Given the description of an element on the screen output the (x, y) to click on. 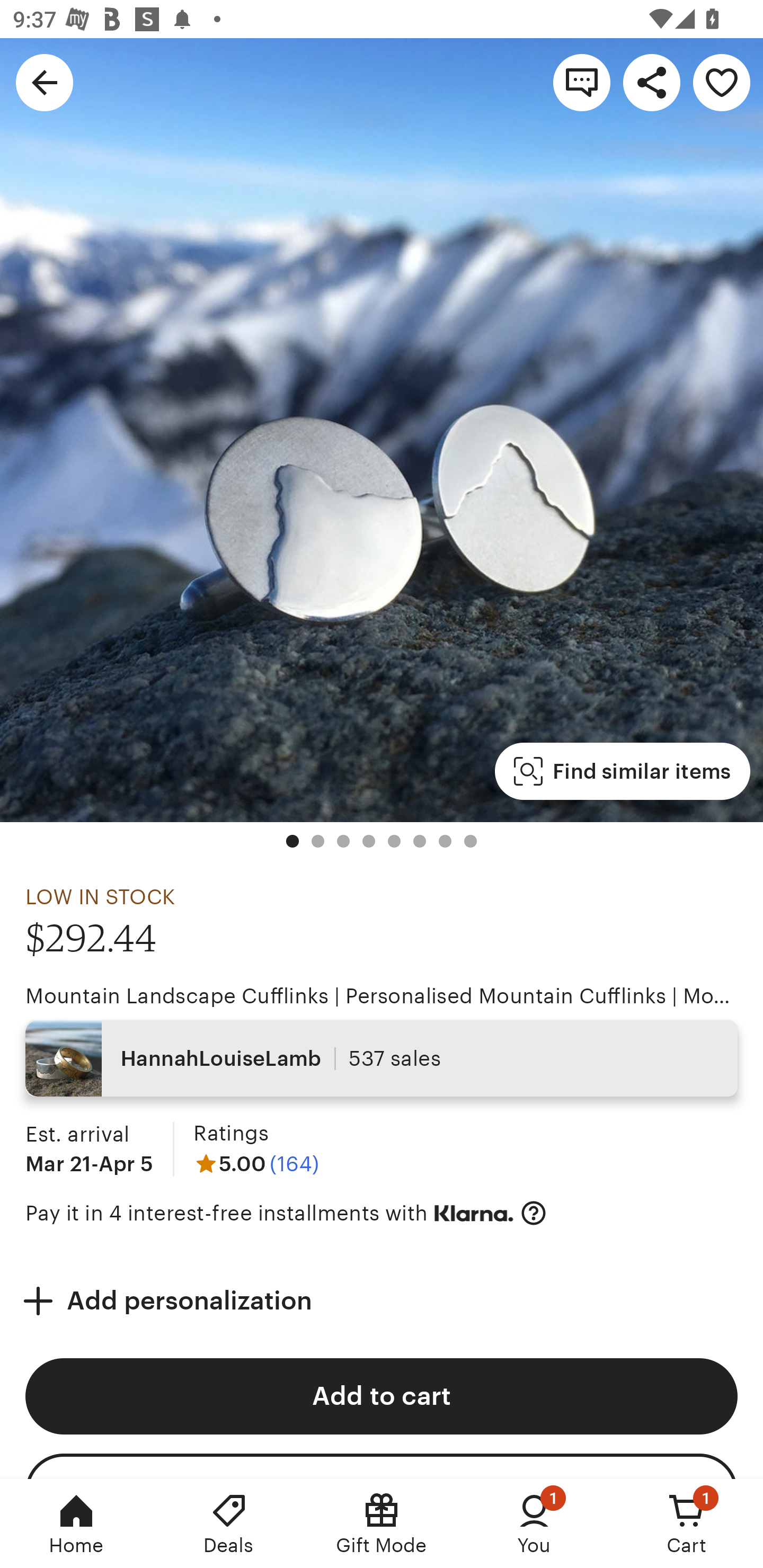
Navigate up (44, 81)
Contact shop (581, 81)
Share (651, 81)
Find similar items (622, 771)
HannahLouiseLamb 537 sales (381, 1058)
Ratings (230, 1133)
5.00 (164) (256, 1163)
Add personalization Add personalization Required (381, 1300)
Add to cart (381, 1395)
Deals (228, 1523)
Gift Mode (381, 1523)
You, 1 new notification You (533, 1523)
Cart, 1 new notification Cart (686, 1523)
